Given the description of an element on the screen output the (x, y) to click on. 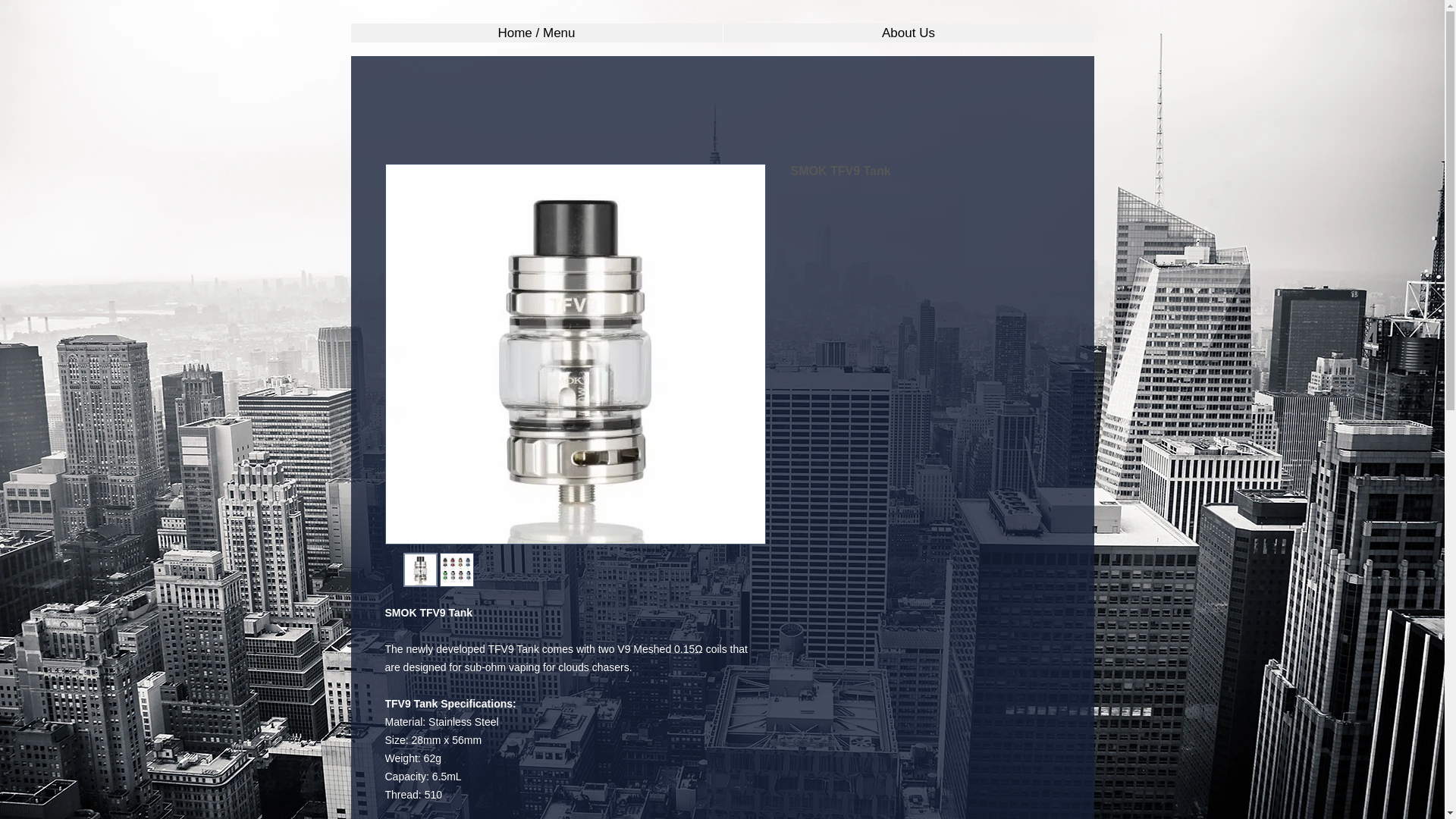
About Us (907, 32)
